Given the description of an element on the screen output the (x, y) to click on. 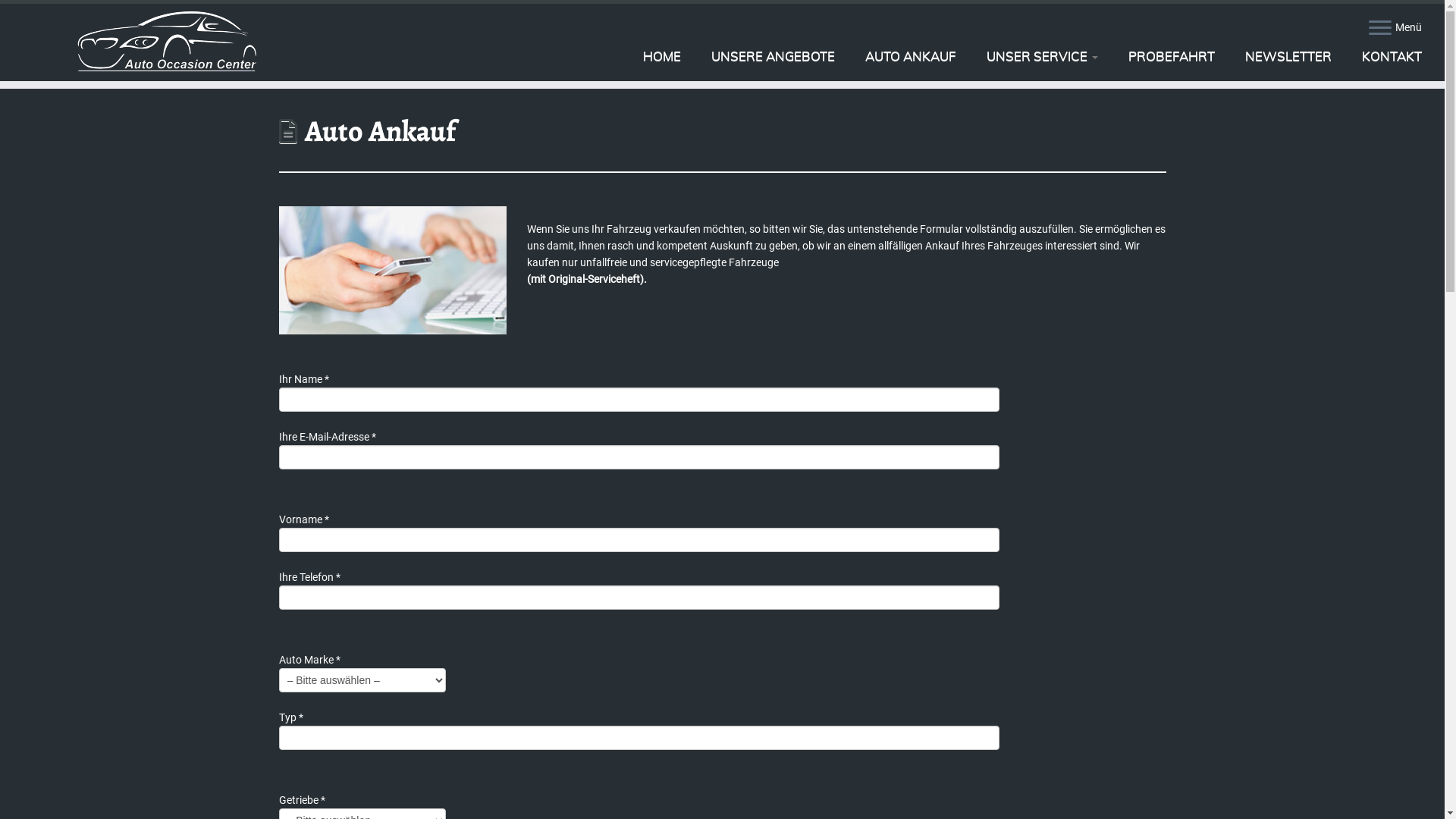
UNSERE ANGEBOTE Element type: text (773, 56)
NEWSLETTER Element type: text (1288, 56)
PROBEFAHRT Element type: text (1171, 56)
AUTO ANKAUF Element type: text (910, 56)
KONTAKT Element type: text (1383, 56)
HOME Element type: text (661, 56)
UNSER SERVICE Element type: text (1042, 56)
